Given the description of an element on the screen output the (x, y) to click on. 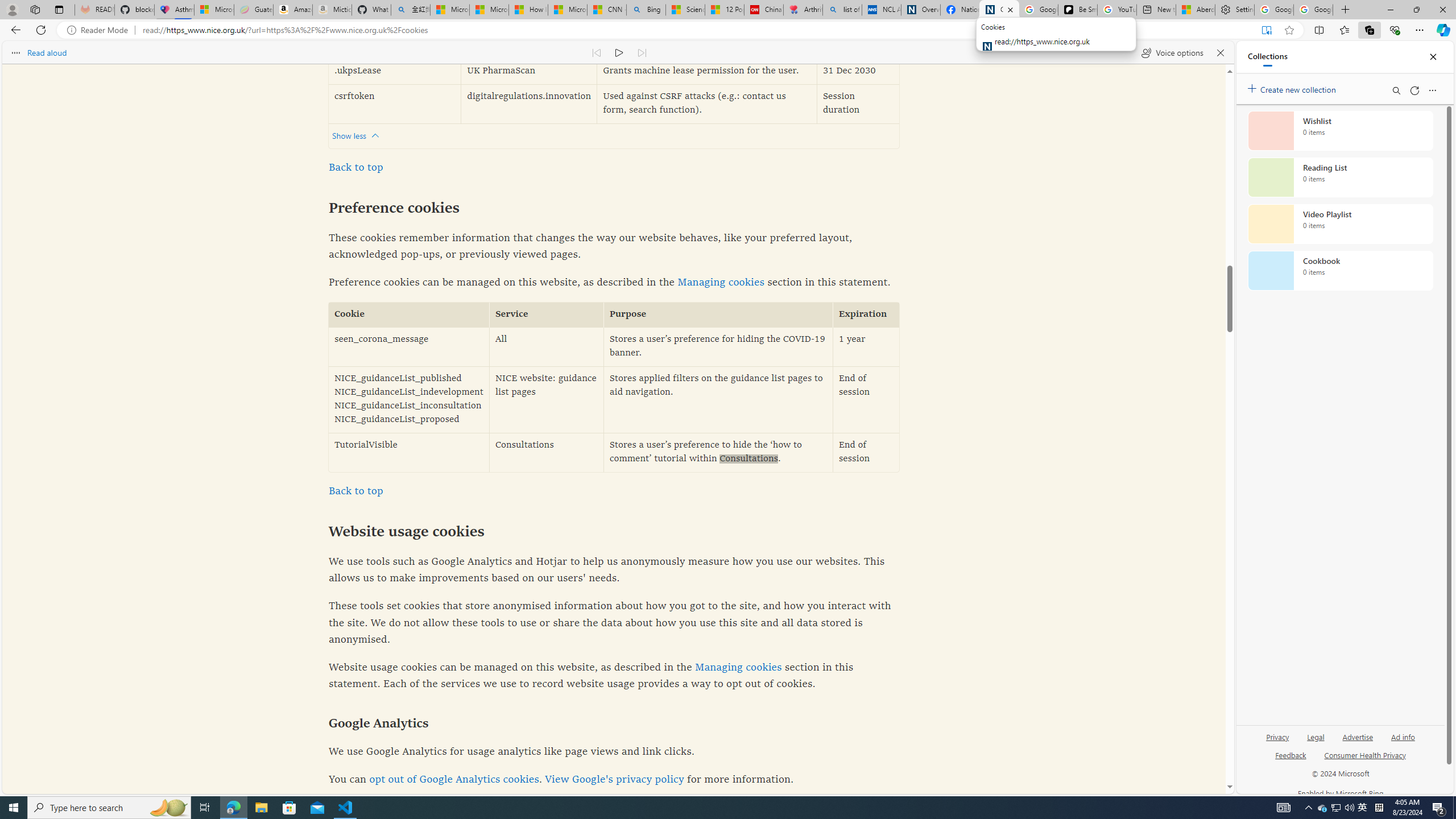
Consultations (546, 452)
Microsoft-Report a Concern to Bing (213, 9)
Advertise (1358, 741)
Reading List collection, 0 items (1339, 177)
Grants machine lease permission for the user. (706, 71)
Reader Mode (100, 29)
CNN - MSN (606, 9)
Wishlist collection, 0 items (1339, 130)
